Given the description of an element on the screen output the (x, y) to click on. 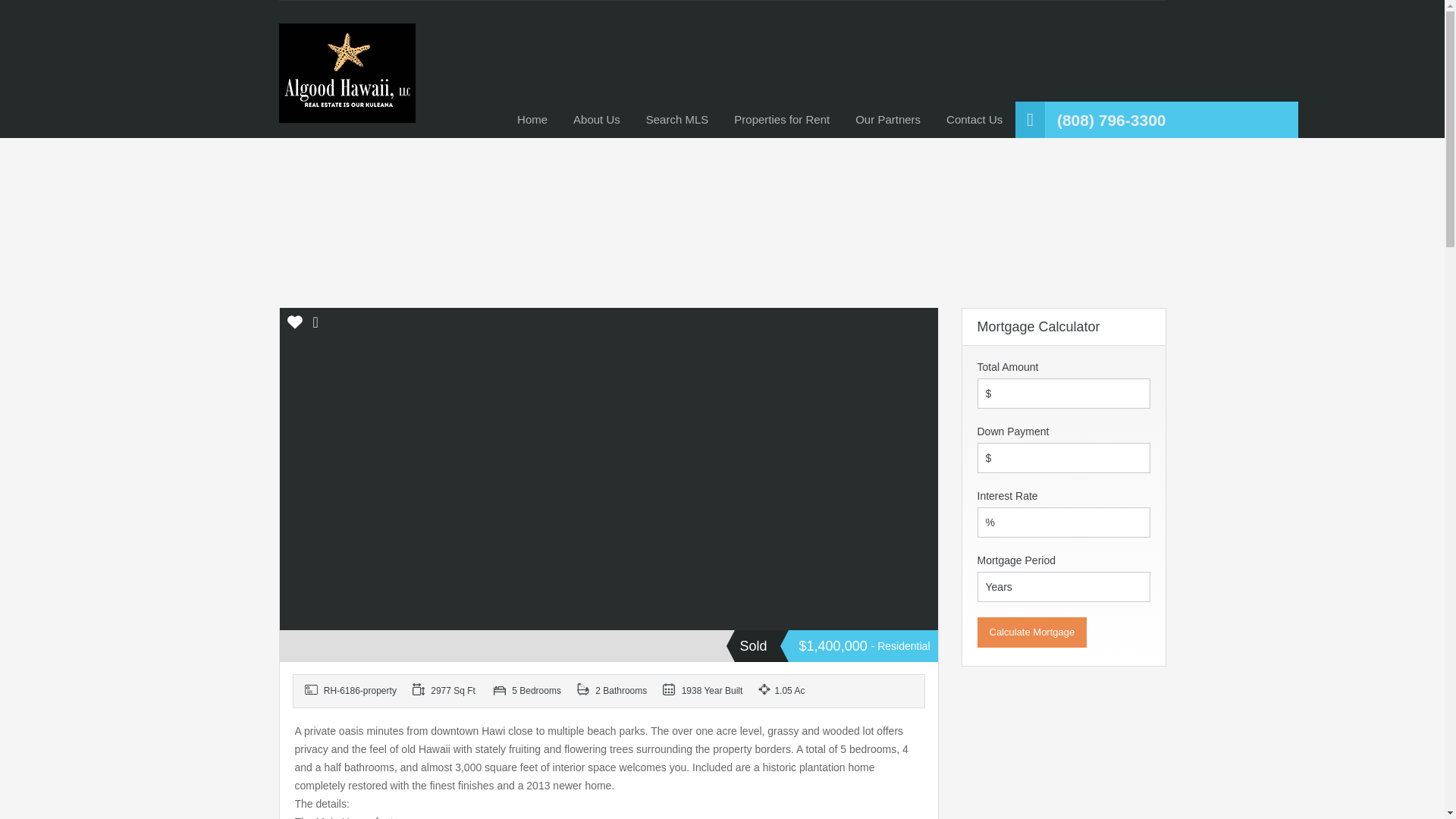
Search MLS (677, 119)
Properties for Rent (781, 119)
Contact Us (973, 119)
Property ID (352, 690)
About Us (596, 119)
Algood Hawaii, LLC (346, 80)
Home (531, 119)
Area Size (446, 690)
Our Partners (888, 119)
Lot Size (792, 690)
Make a Call (1111, 120)
Add to favorite (293, 327)
Calculate Mortgage (1031, 632)
